Given the description of an element on the screen output the (x, y) to click on. 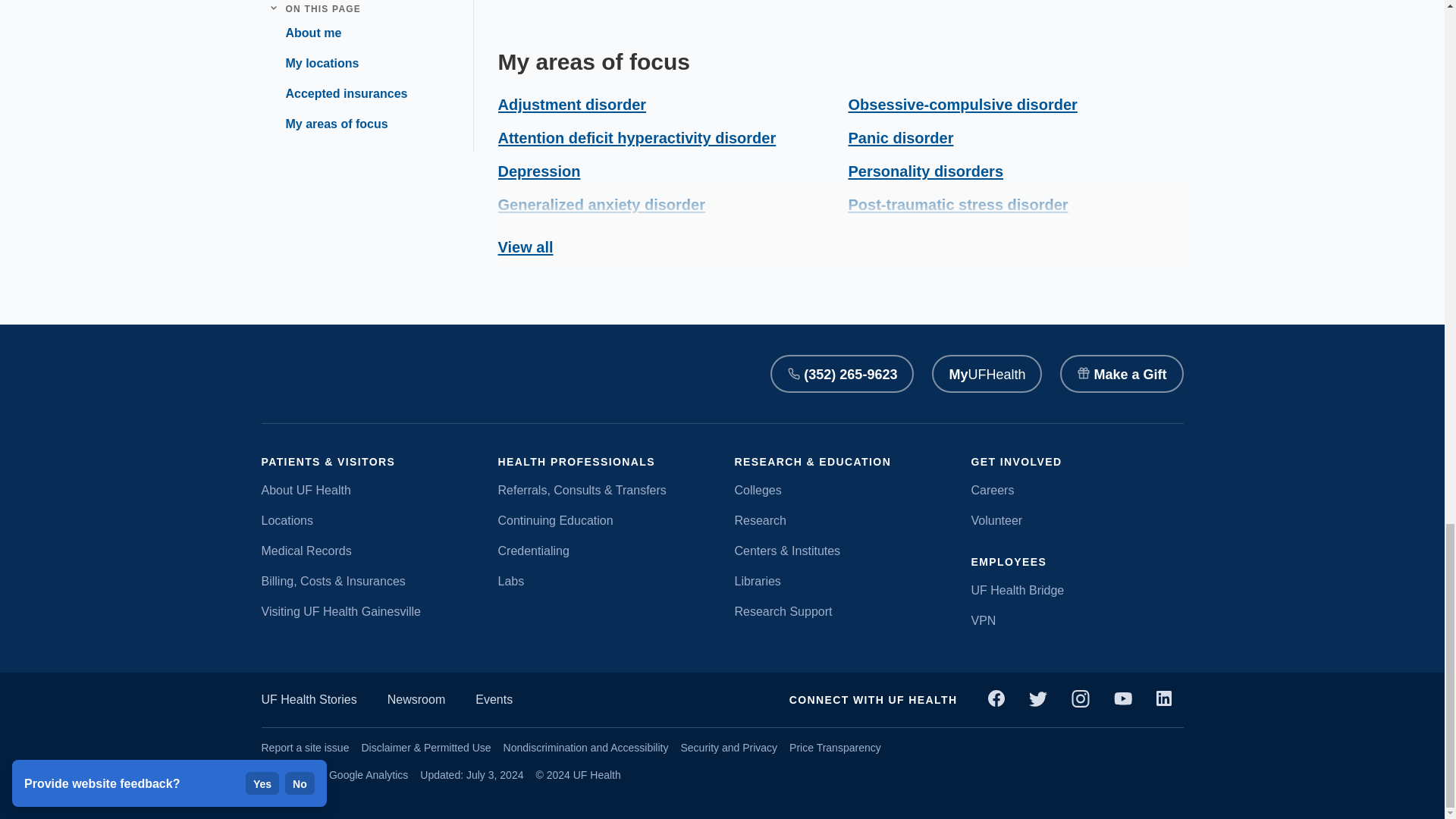
Major depression (560, 238)
Personality disorders (925, 170)
Attention deficit hyperactivity disorder (636, 137)
Adjustment disorder (571, 104)
University of Florida Health (310, 374)
Panic disorder (900, 137)
Social anxiety disorder (930, 238)
View all (525, 246)
University of Florida (452, 373)
Obsessive-compulsive disorder (962, 104)
Post-traumatic stress disorder (957, 204)
Generalized anxiety disorder (600, 204)
Depression (538, 170)
